Given the description of an element on the screen output the (x, y) to click on. 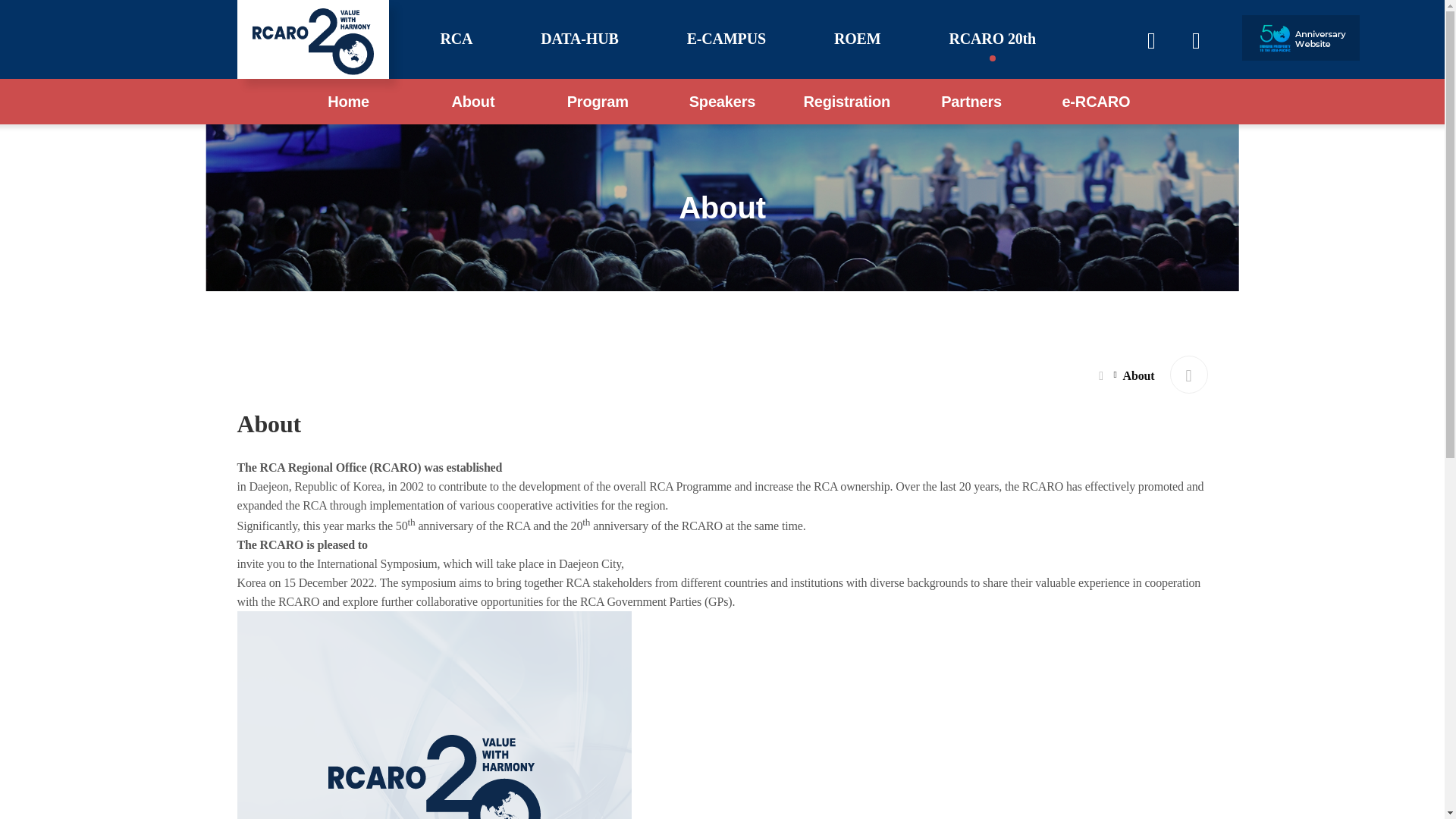
Registration (846, 101)
DATA-HUB (578, 38)
50TH ANNIVERSARY WEBSITE (1300, 37)
About (473, 101)
Open (1196, 40)
e-RCARO (1095, 101)
Home (348, 101)
RCA (455, 38)
Partners (971, 101)
Program (597, 101)
